Given the description of an element on the screen output the (x, y) to click on. 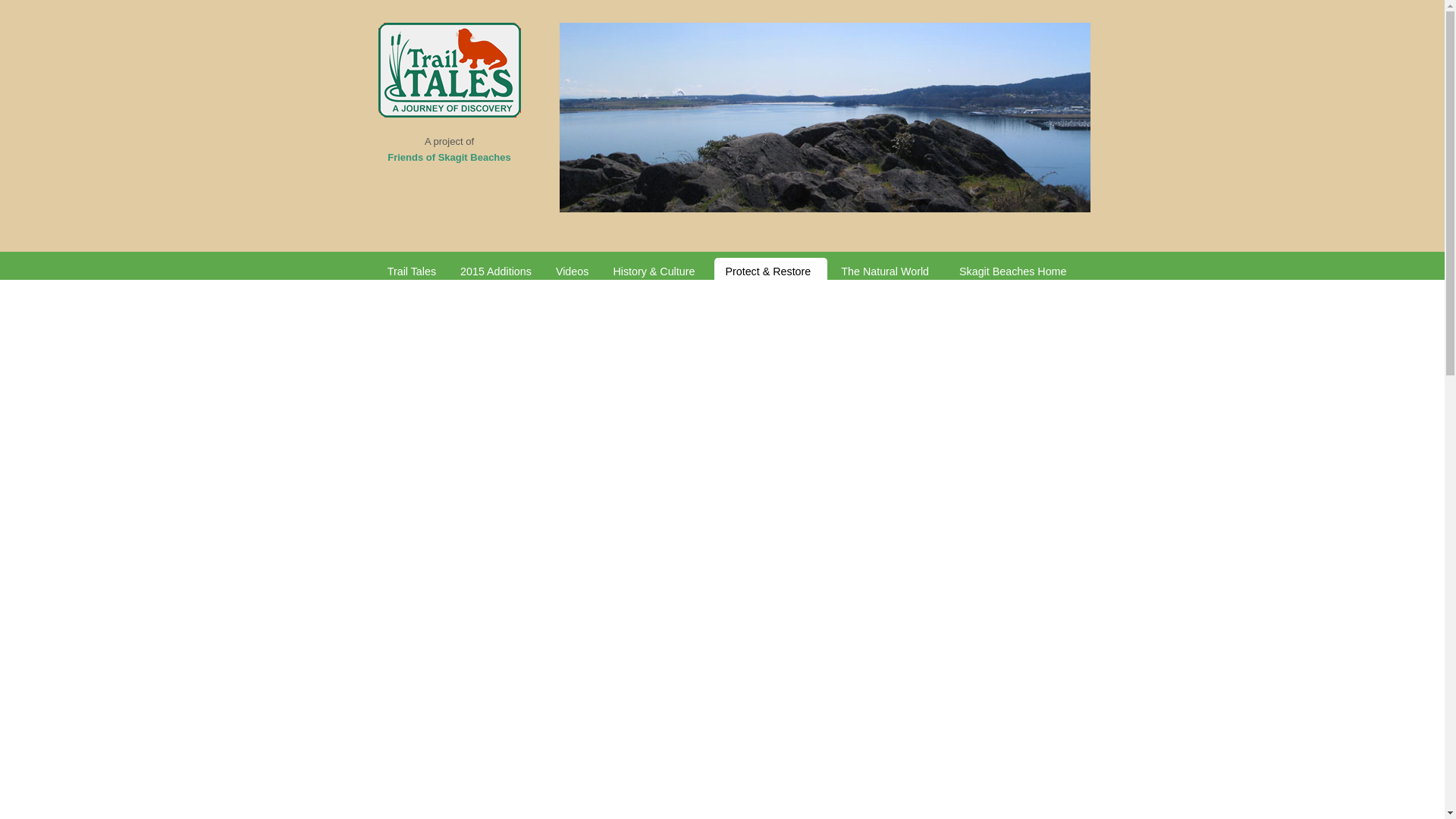
Trail Tales (411, 273)
Videos (571, 273)
The Natural World (886, 273)
Friends of Skagit Beaches (449, 156)
2015 Additions (495, 273)
